Given the description of an element on the screen output the (x, y) to click on. 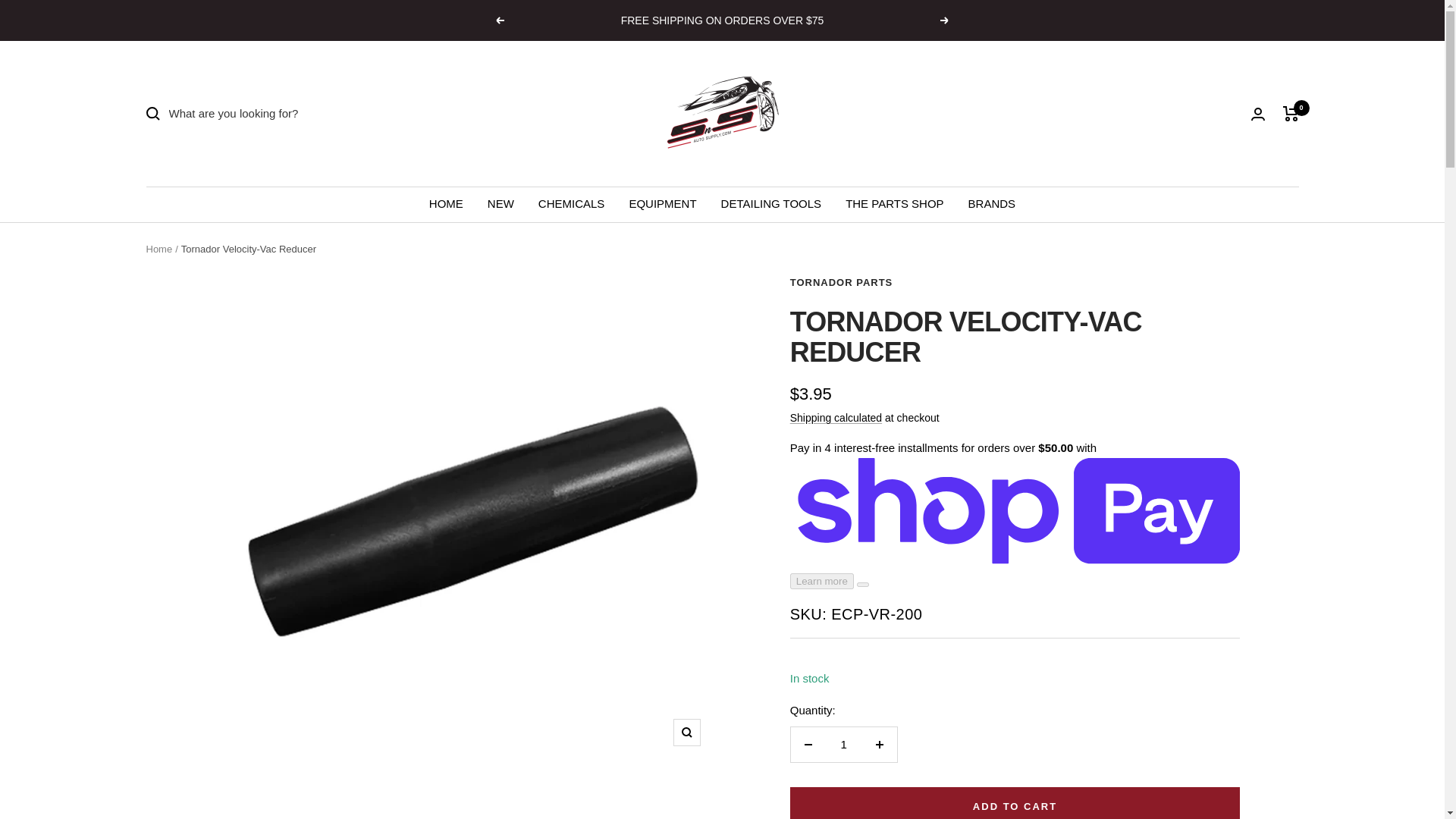
CHEMICALS (571, 203)
Zoom (686, 732)
EQUIPMENT (661, 203)
Decrease quantity (807, 744)
BRANDS (992, 203)
HOME (446, 203)
0 (1290, 113)
Previous (499, 20)
Shipping calculated (836, 417)
SNS Auto Supply (721, 113)
